Given the description of an element on the screen output the (x, y) to click on. 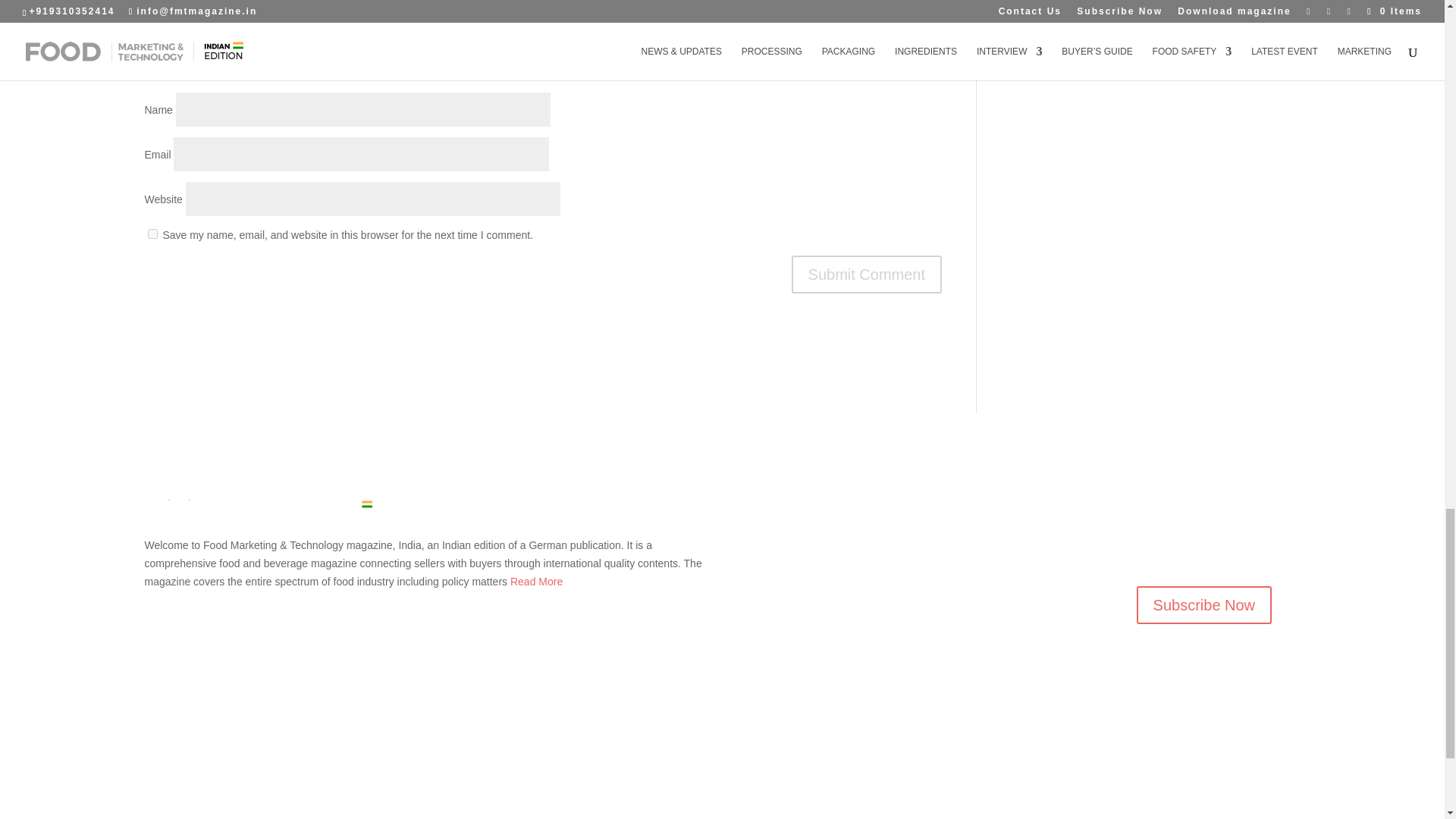
Follow on LinkedIn (1208, 550)
Submit Comment (867, 274)
Submit Comment (867, 274)
Follow on Twitter (1179, 550)
yes (152, 234)
Follow on Facebook (1148, 550)
